Given the description of an element on the screen output the (x, y) to click on. 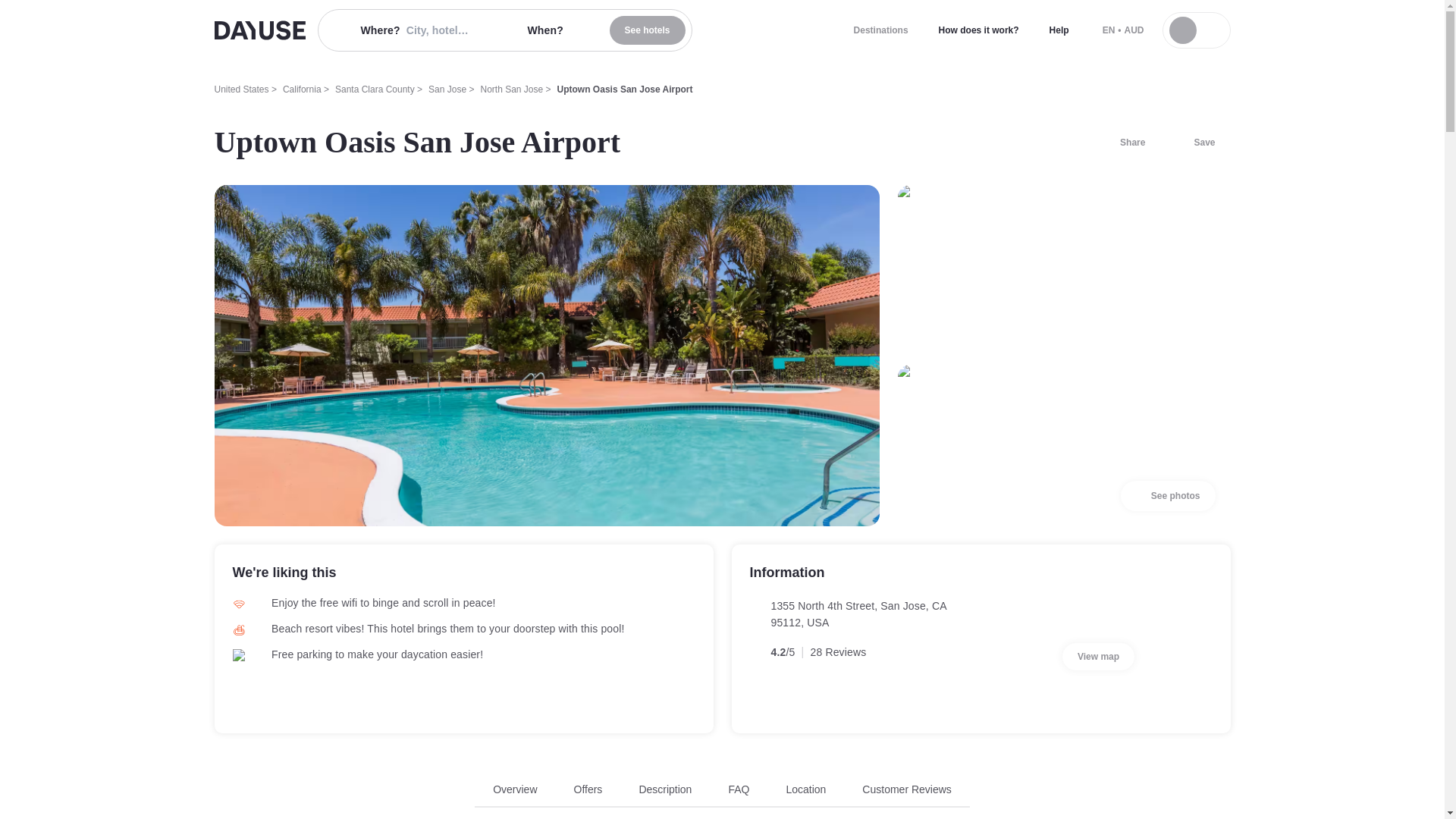
Customer Reviews (905, 789)
North San Jose (511, 89)
Help (1058, 30)
Offers (587, 789)
Santa Clara County (374, 89)
Destinations (880, 30)
Share (1123, 142)
See photos (1168, 495)
Overview (515, 789)
View map (1098, 656)
How does it work? (978, 30)
FAQ (738, 789)
Dayuse (721, 794)
San Jose (259, 29)
